Given the description of an element on the screen output the (x, y) to click on. 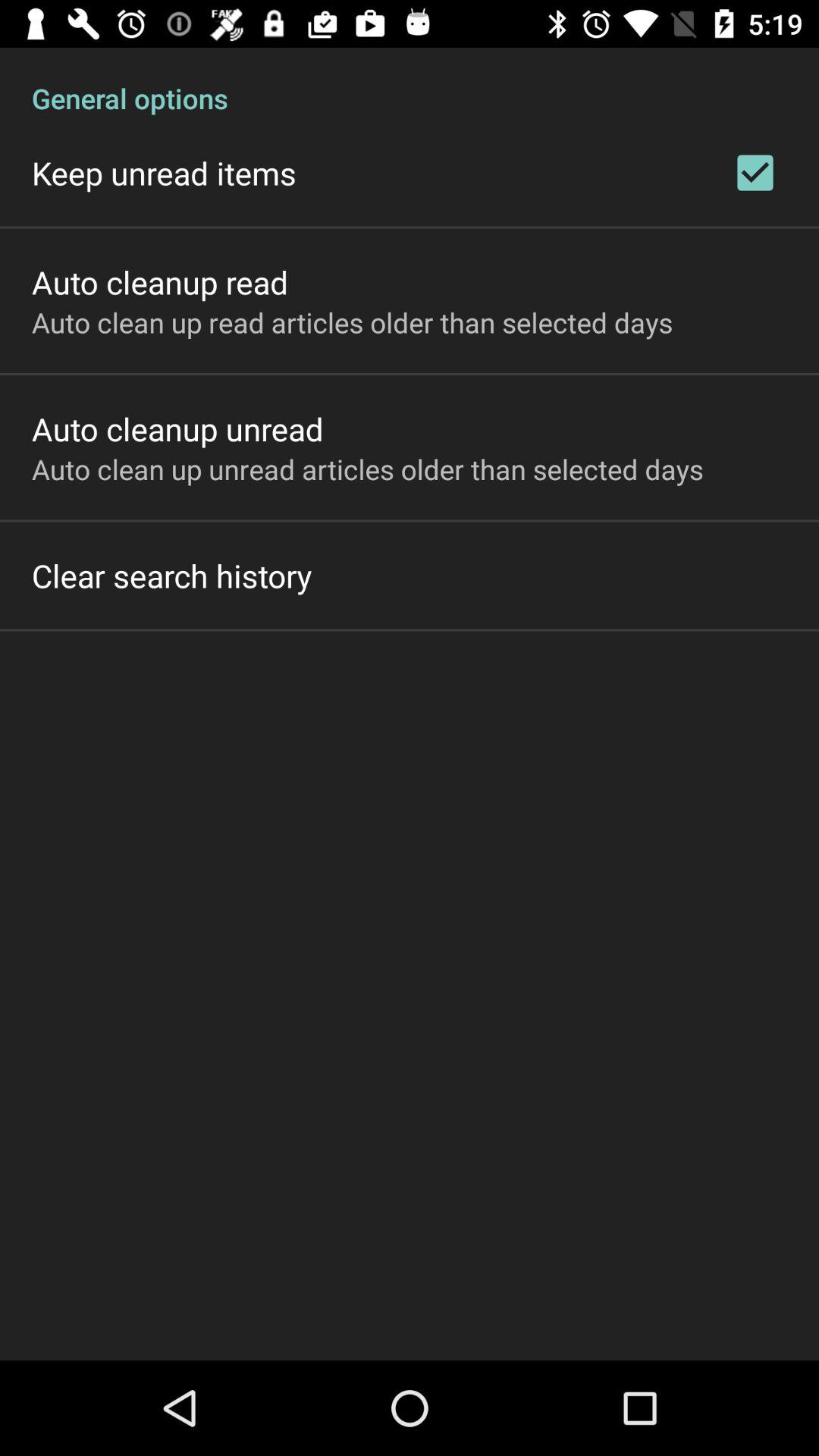
open the clear search history on the left (171, 575)
